Given the description of an element on the screen output the (x, y) to click on. 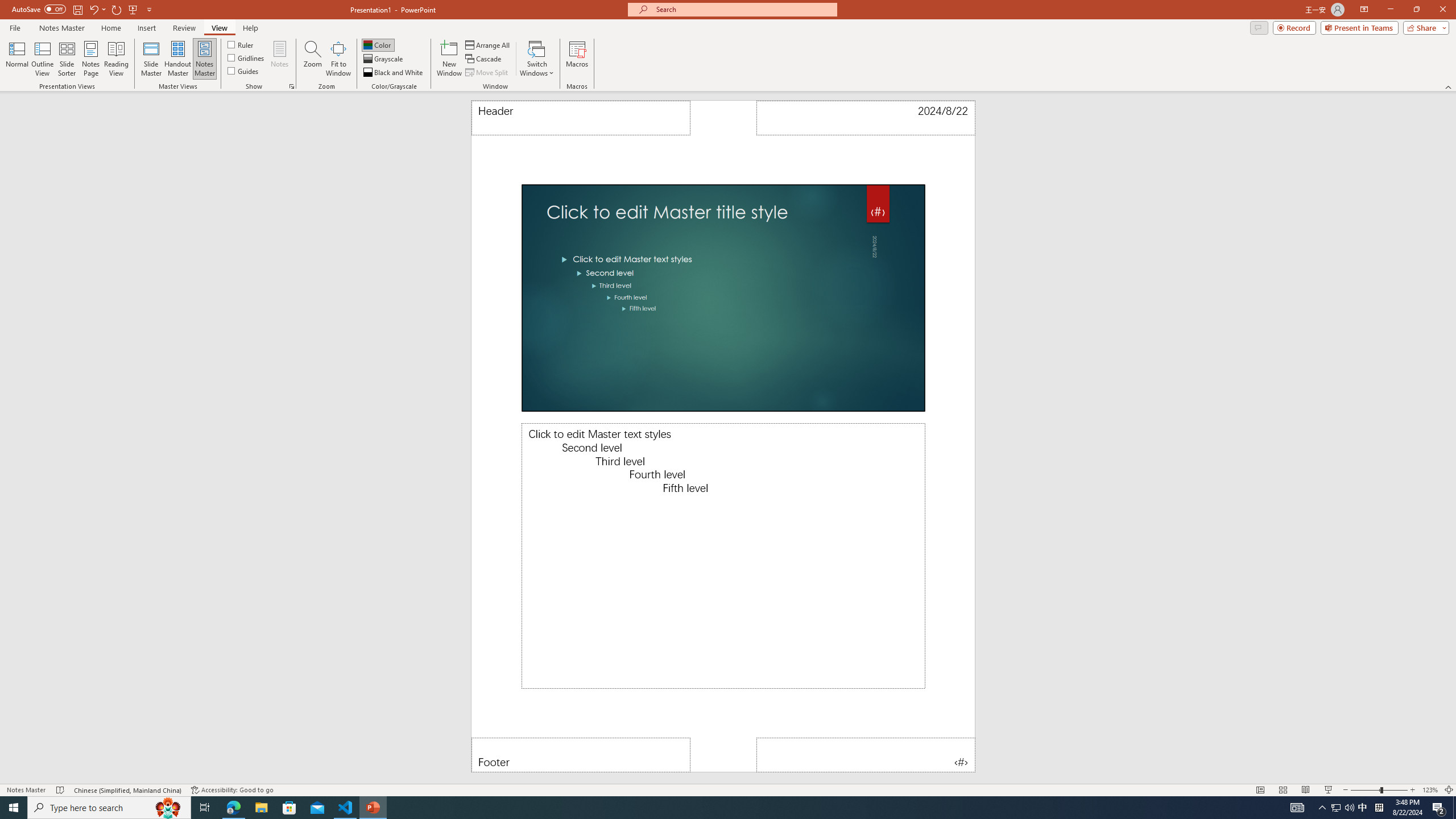
Black and White (393, 72)
Page Number (866, 754)
Slide Master (151, 58)
Gridlines (246, 56)
Switch Windows (537, 58)
Move Split (487, 72)
